Given the description of an element on the screen output the (x, y) to click on. 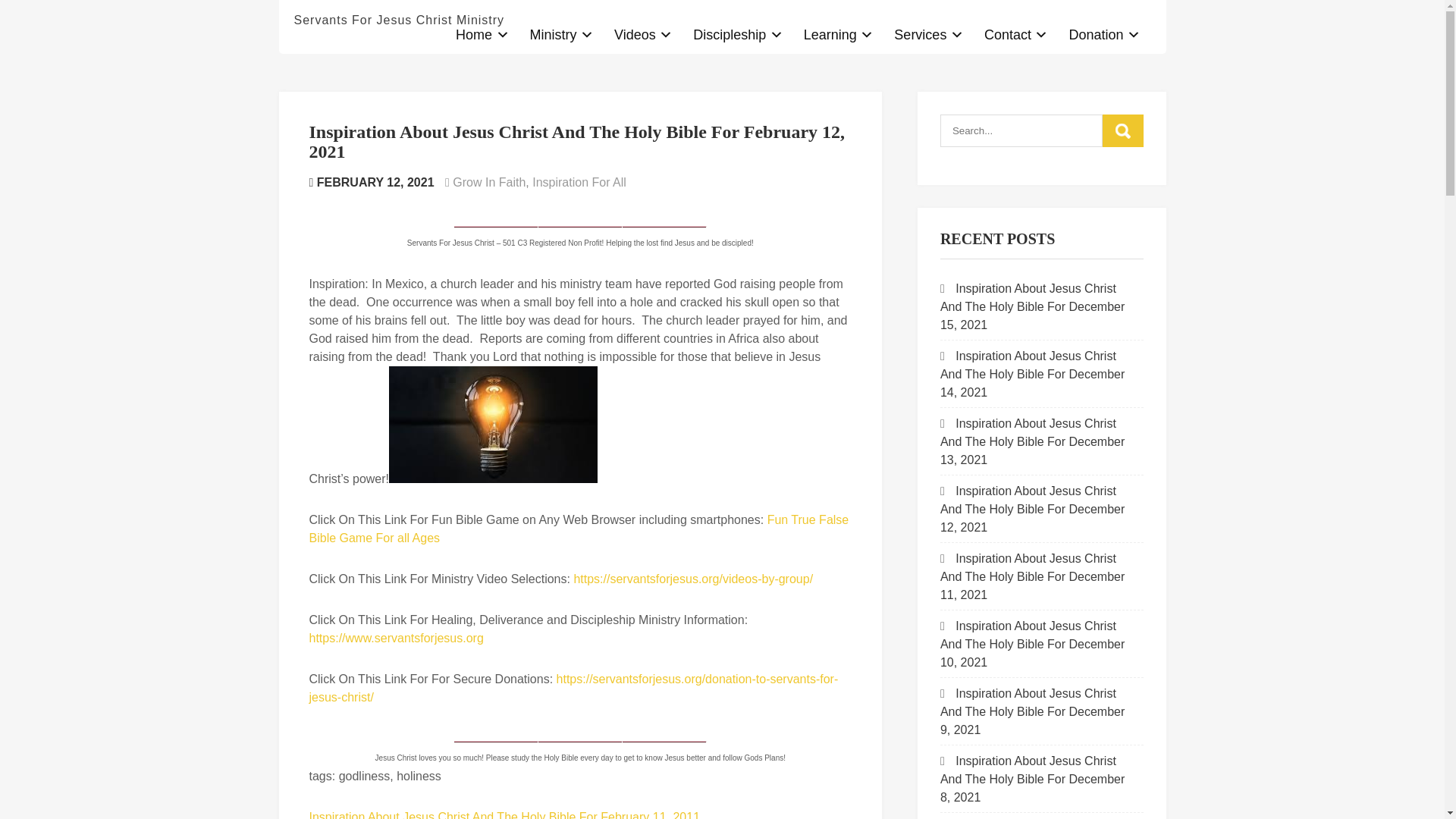
Search (1122, 130)
Search (1122, 130)
Learning (838, 34)
Ministry (561, 34)
Home (482, 34)
Discipleship (737, 34)
Services (928, 34)
Videos (643, 34)
Contact (1016, 34)
